Given the description of an element on the screen output the (x, y) to click on. 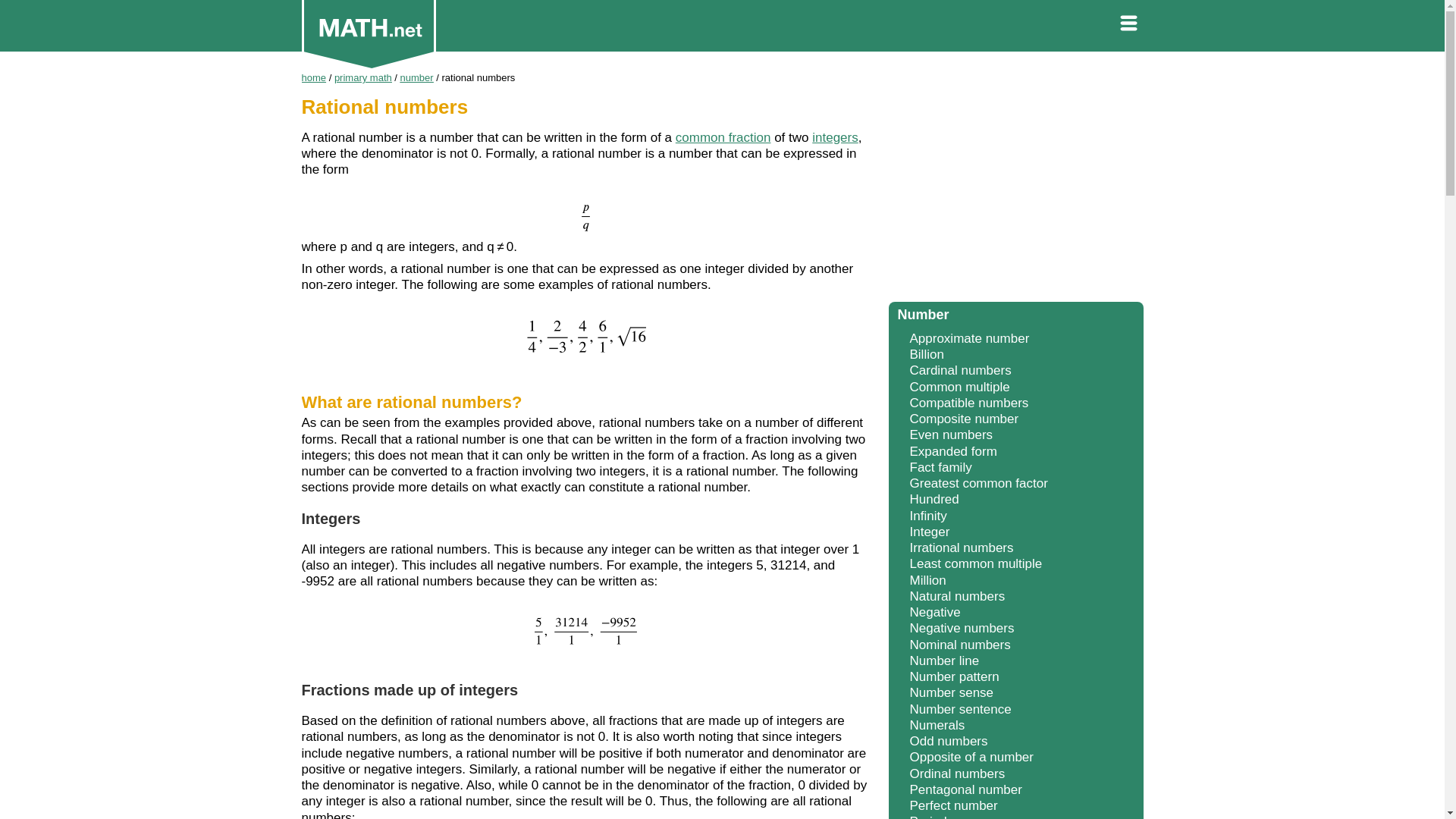
Even numbers (951, 434)
Expanded form (953, 451)
Composite number (964, 418)
common fraction (723, 137)
Period (928, 816)
Number sentence (960, 708)
Cardinal numbers (960, 370)
home (313, 77)
Million (928, 580)
Pentagonal number (966, 789)
Integer (930, 531)
Negative numbers (962, 627)
Approximate number (969, 338)
Common multiple (960, 386)
Numerals (937, 725)
